Given the description of an element on the screen output the (x, y) to click on. 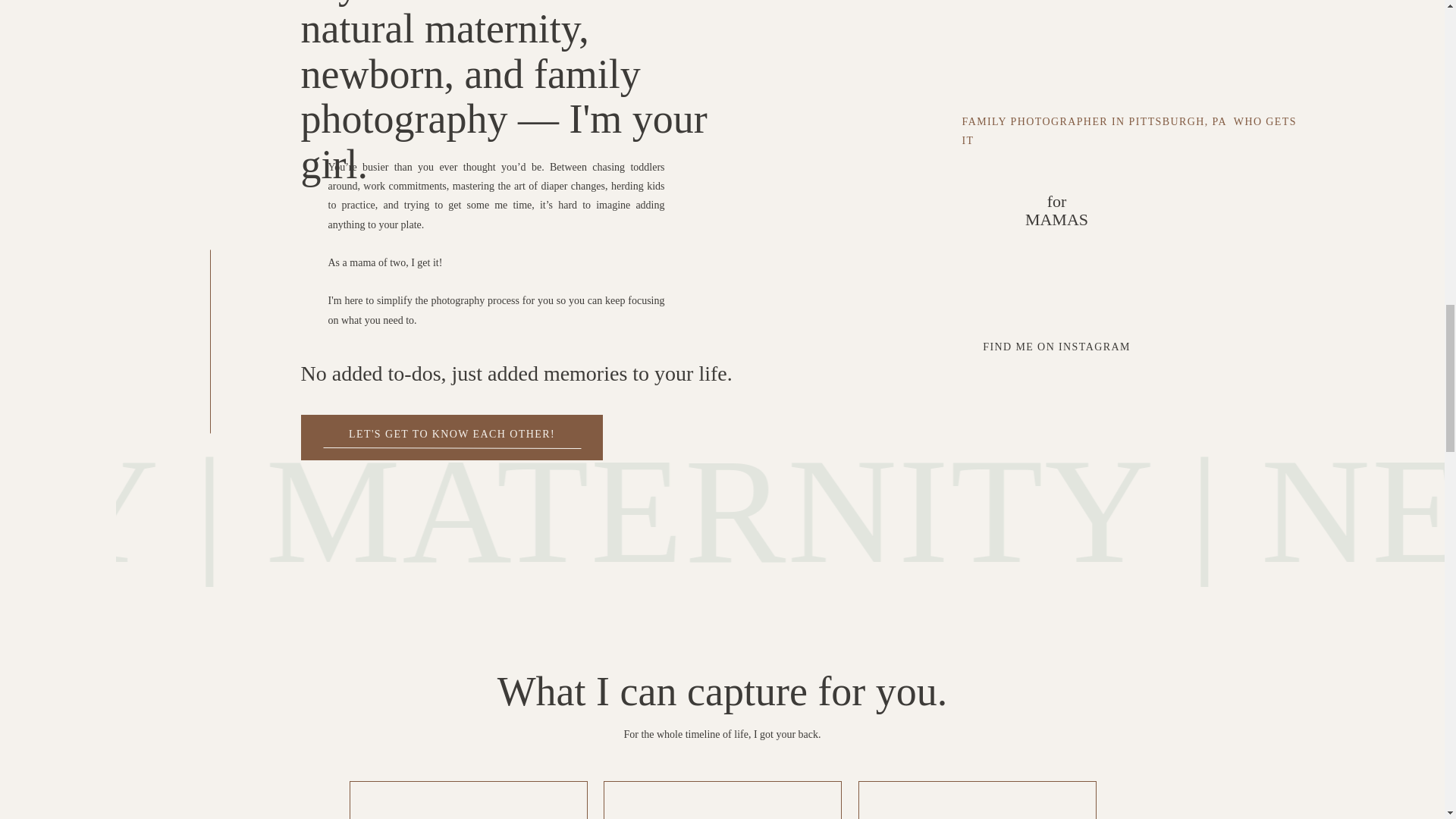
THE D FAMILY - LILY IS ONE! 3 (1056, 214)
THE D FAMILY - LILY IS ONE! 5 (625, 29)
